Given the description of an element on the screen output the (x, y) to click on. 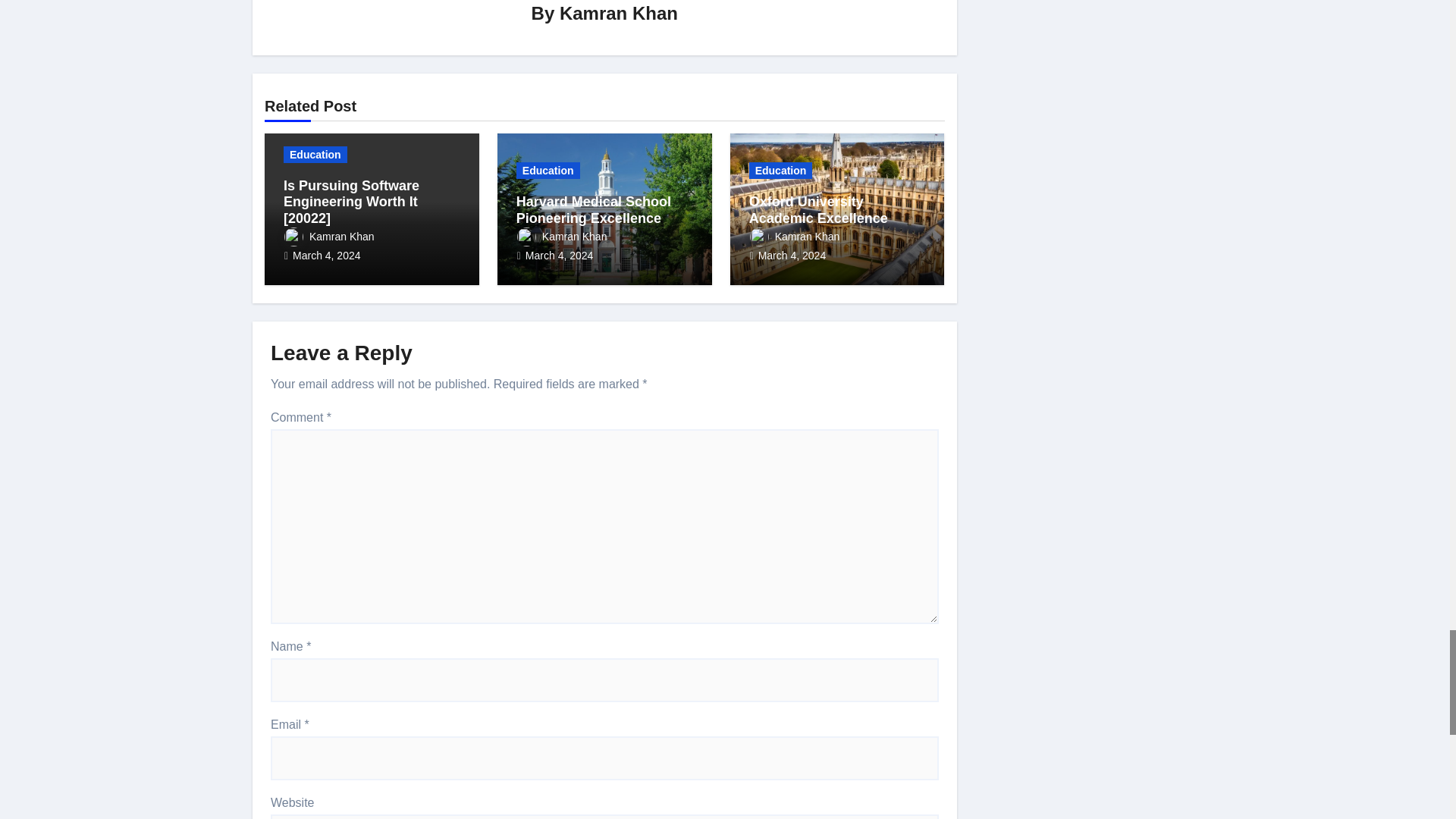
Kamran Khan (618, 13)
Permalink to: Harvard Medical School Pioneering Excellence (593, 210)
Permalink to: Oxford University Academic Excellence (818, 210)
